Given the description of an element on the screen output the (x, y) to click on. 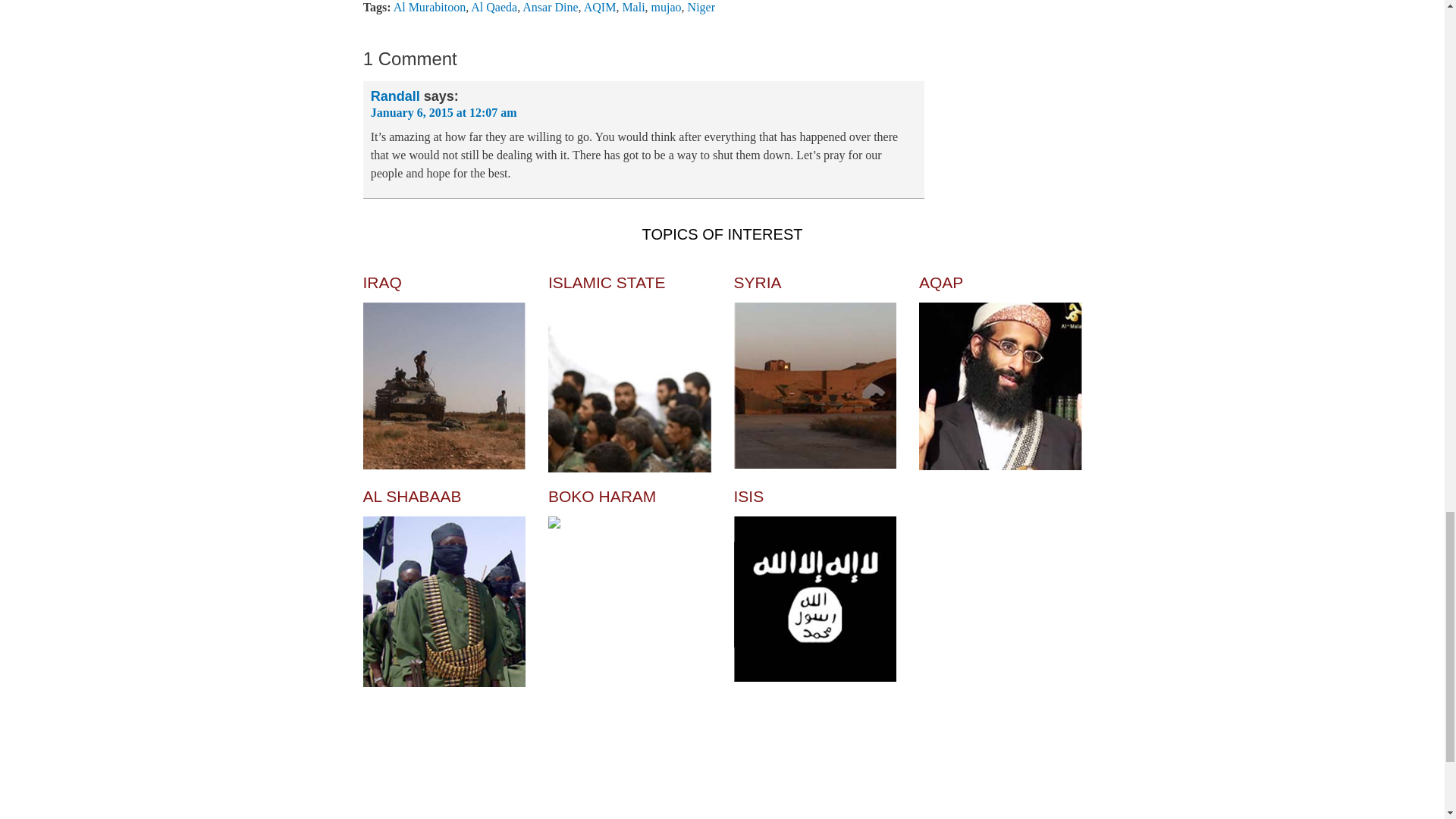
Randall (395, 96)
mujao (665, 6)
AQIM (599, 6)
Al Murabitoon (429, 6)
Al Qaeda (493, 6)
January 6, 2015 at 12:07 am (443, 112)
Mali (633, 6)
Ansar Dine (550, 6)
Niger (700, 6)
